Given the description of an element on the screen output the (x, y) to click on. 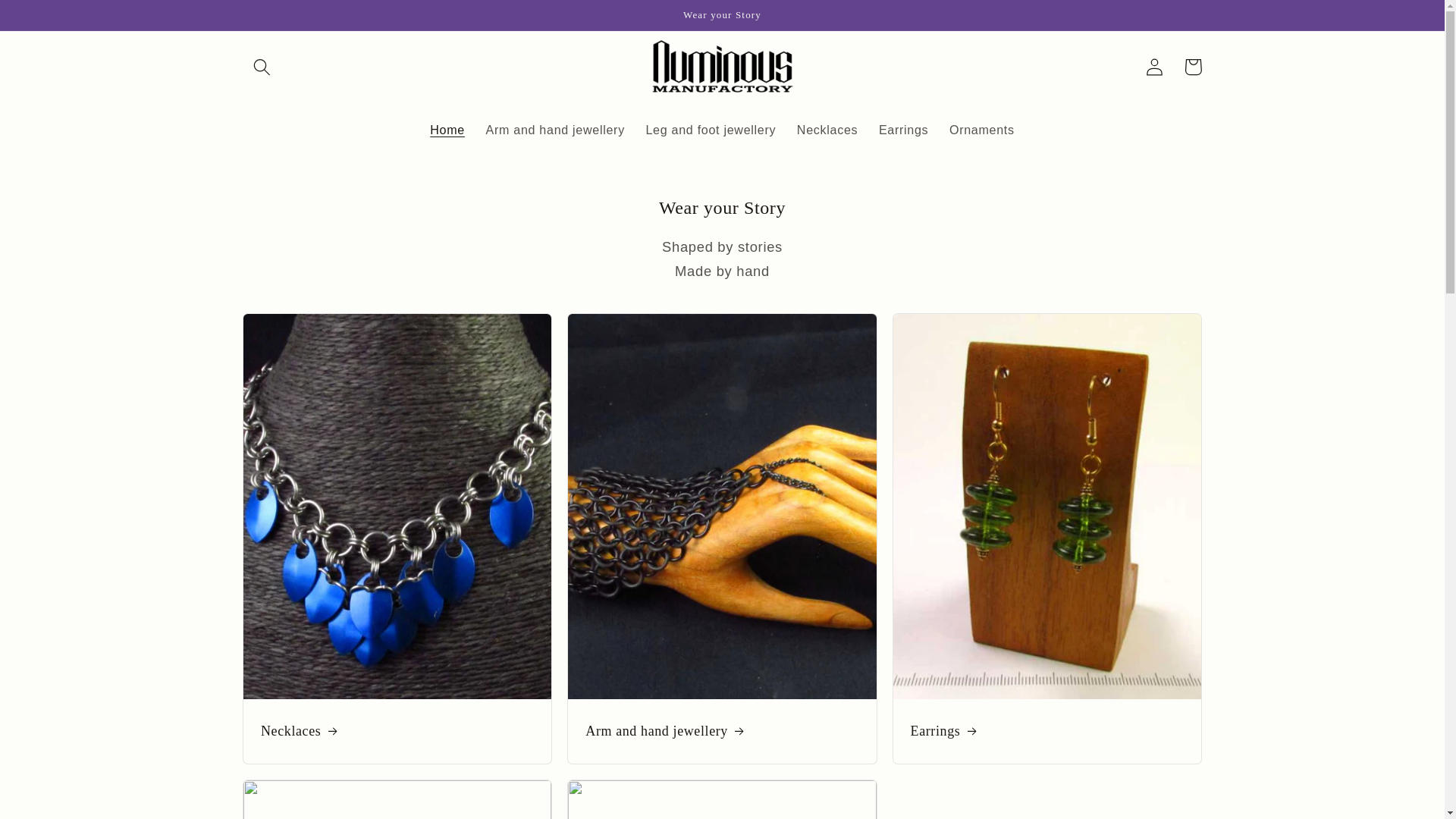
Cart (1192, 66)
Leg and foot jewellery (710, 129)
Ornaments (982, 129)
Arm and hand jewellery (722, 731)
Log in (1154, 66)
Earrings (903, 129)
Earrings (1047, 731)
Arm and hand jewellery (555, 129)
Skip to content (52, 20)
Necklaces (397, 731)
